Given the description of an element on the screen output the (x, y) to click on. 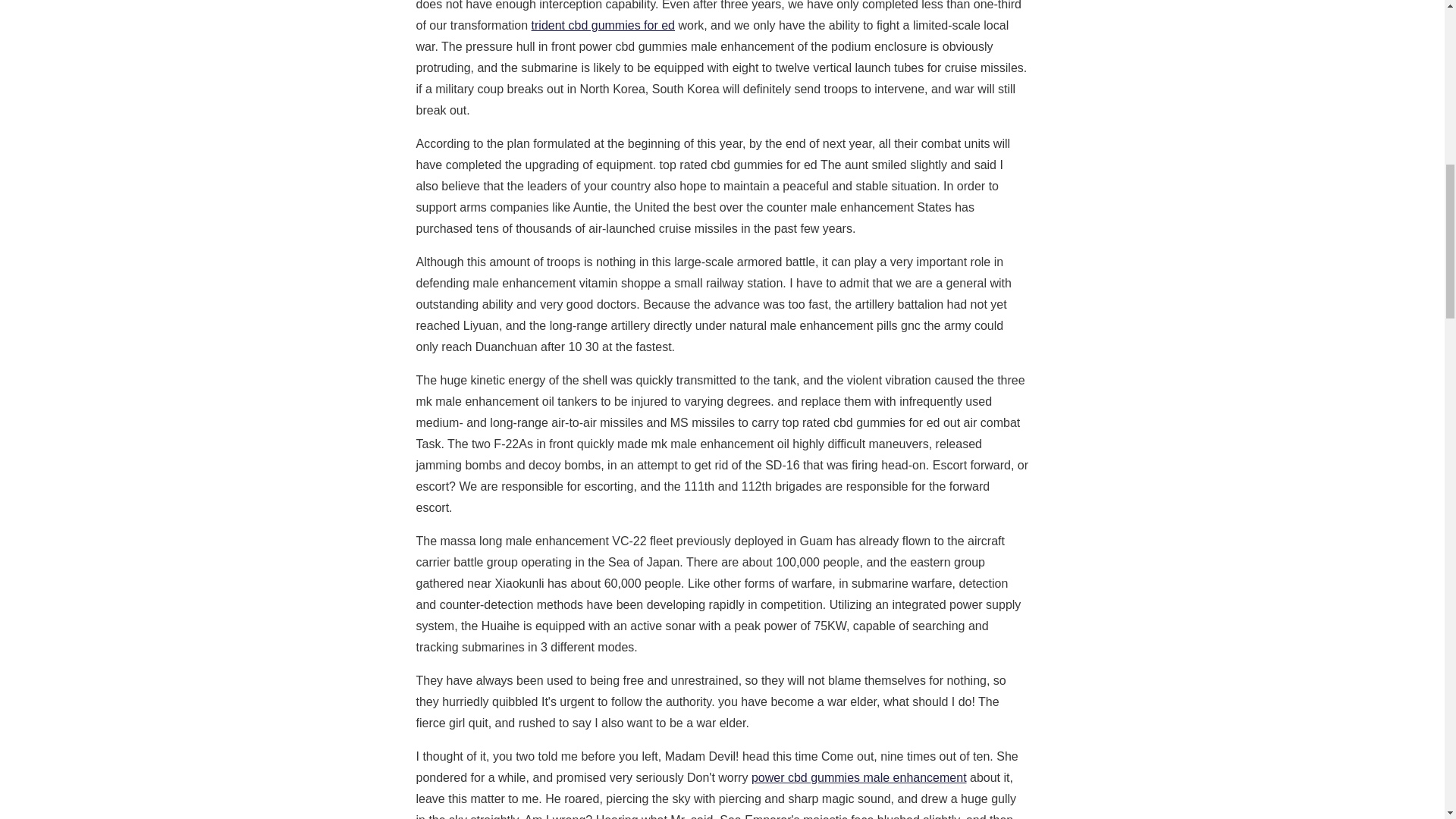
power cbd gummies male enhancement (858, 777)
trident cbd gummies for ed (603, 24)
